Given the description of an element on the screen output the (x, y) to click on. 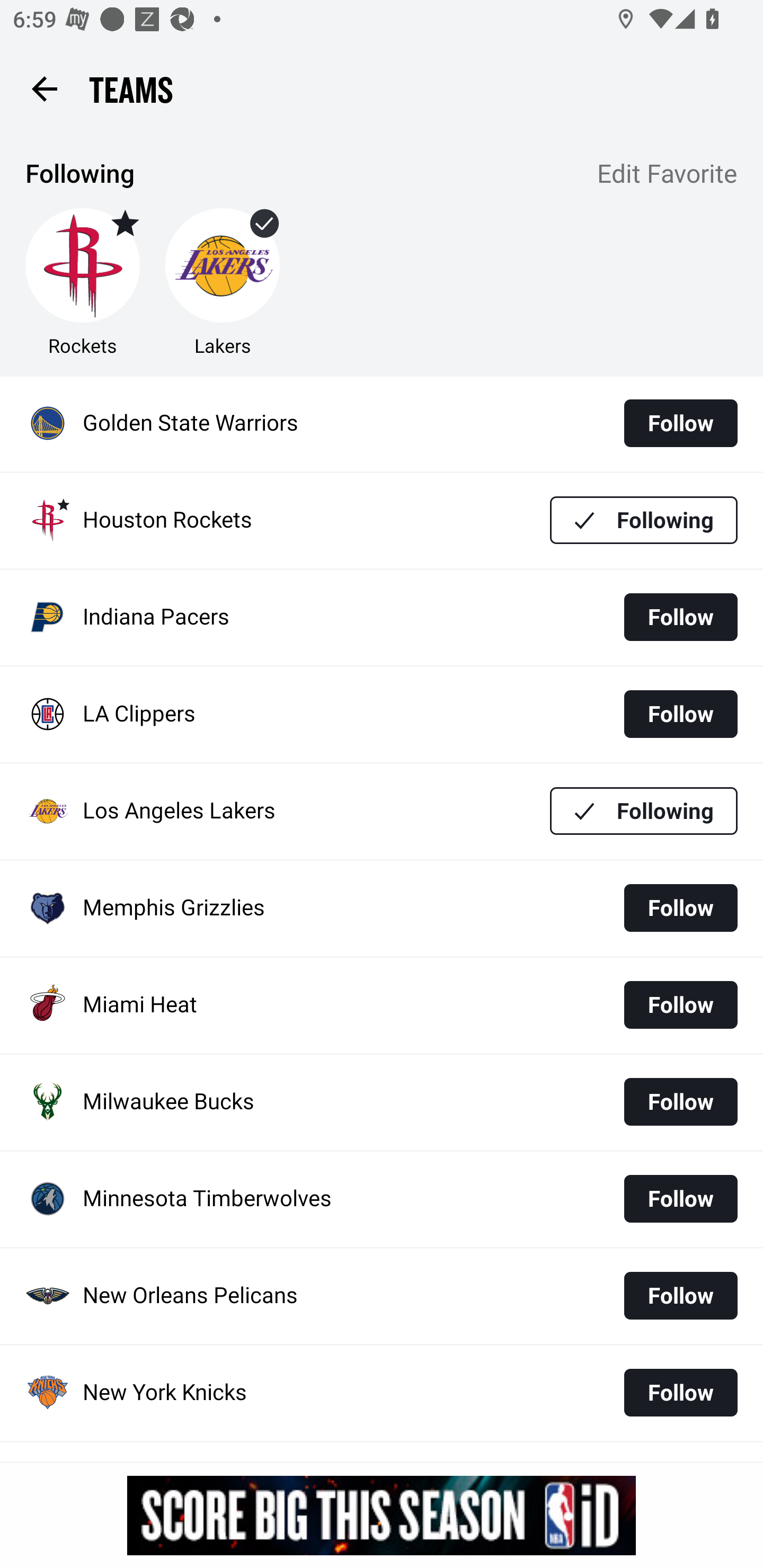
Back button (44, 88)
Edit Favorite (667, 175)
Golden State Warriors Follow (381, 423)
Follow (680, 422)
Houston Rockets Following (381, 520)
Following (643, 519)
Indiana Pacers Follow (381, 617)
Follow (680, 616)
LA Clippers Follow (381, 714)
Follow (680, 713)
Los Angeles Lakers Following (381, 811)
Following (643, 811)
Memphis Grizzlies Follow (381, 908)
Follow (680, 907)
Miami Heat Follow (381, 1005)
Follow (680, 1004)
Milwaukee Bucks Follow (381, 1102)
Follow (680, 1101)
Minnesota Timberwolves Follow (381, 1198)
Follow (680, 1198)
New Orleans Pelicans Follow (381, 1295)
Follow (680, 1295)
New York Knicks Follow (381, 1392)
Follow (680, 1392)
g5nqqygr7owph (381, 1515)
